Given the description of an element on the screen output the (x, y) to click on. 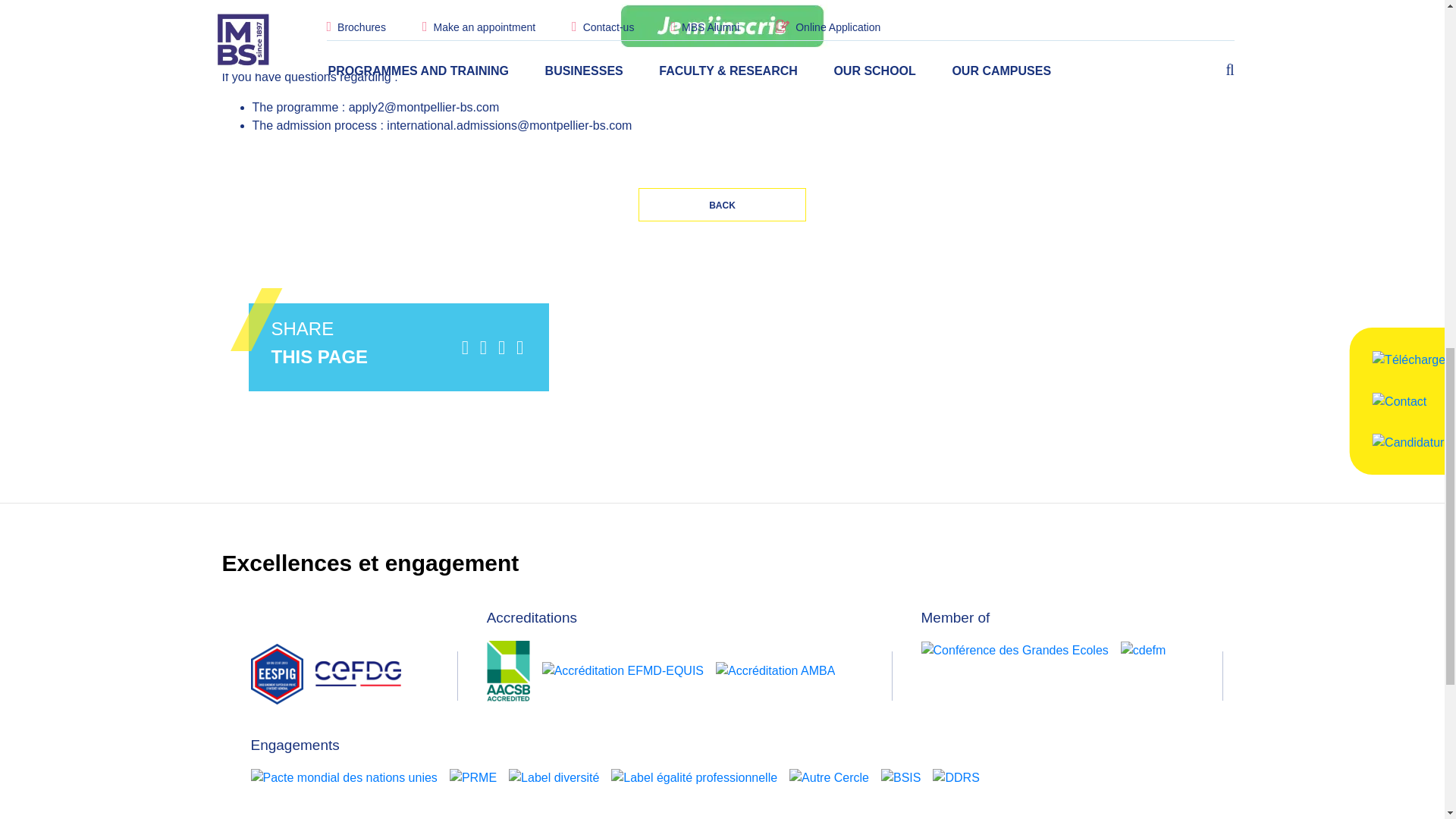
Go to the website "Autre Cercle" (829, 777)
Go to the website "EESPIG" (276, 673)
Go to the website "PRME" (472, 777)
Back to the list of events (722, 204)
Go to the website "Pacte mondial des nations unies" (343, 777)
Go to the website "CEFDG" (358, 673)
Go to the website "cdefm" (1143, 650)
Go to the website "DDRS" (955, 777)
Go to the website "BSIS" (900, 777)
